Given the description of an element on the screen output the (x, y) to click on. 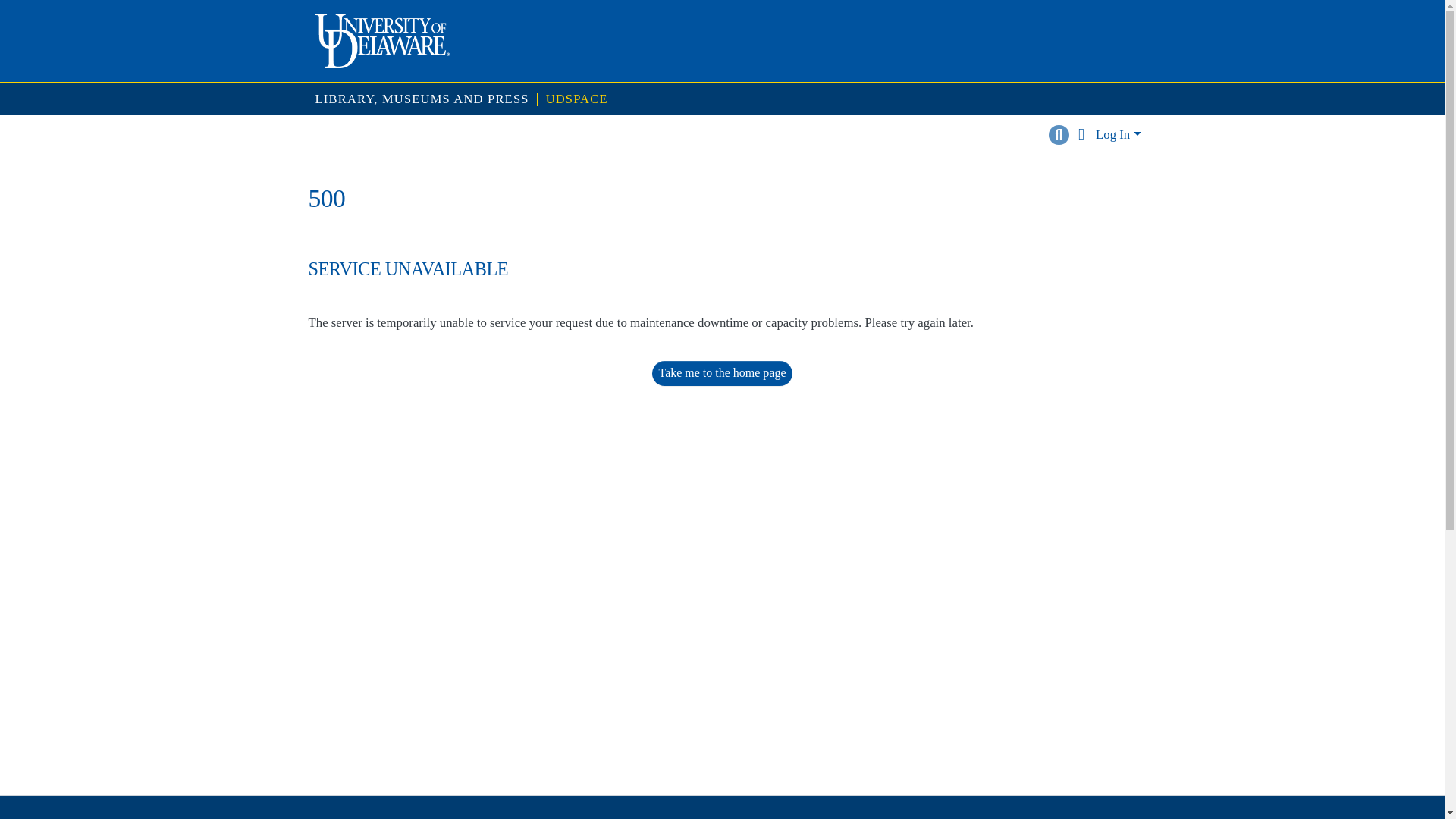
Search (1058, 134)
Log In (1117, 134)
Language switch (1080, 134)
UD Home (382, 40)
University of Delaware Library Museums and Press Website (422, 99)
Take me to the home page (722, 373)
UDSPACE (577, 99)
LIBRARY, MUSEUMS AND PRESS (422, 99)
